Given the description of an element on the screen output the (x, y) to click on. 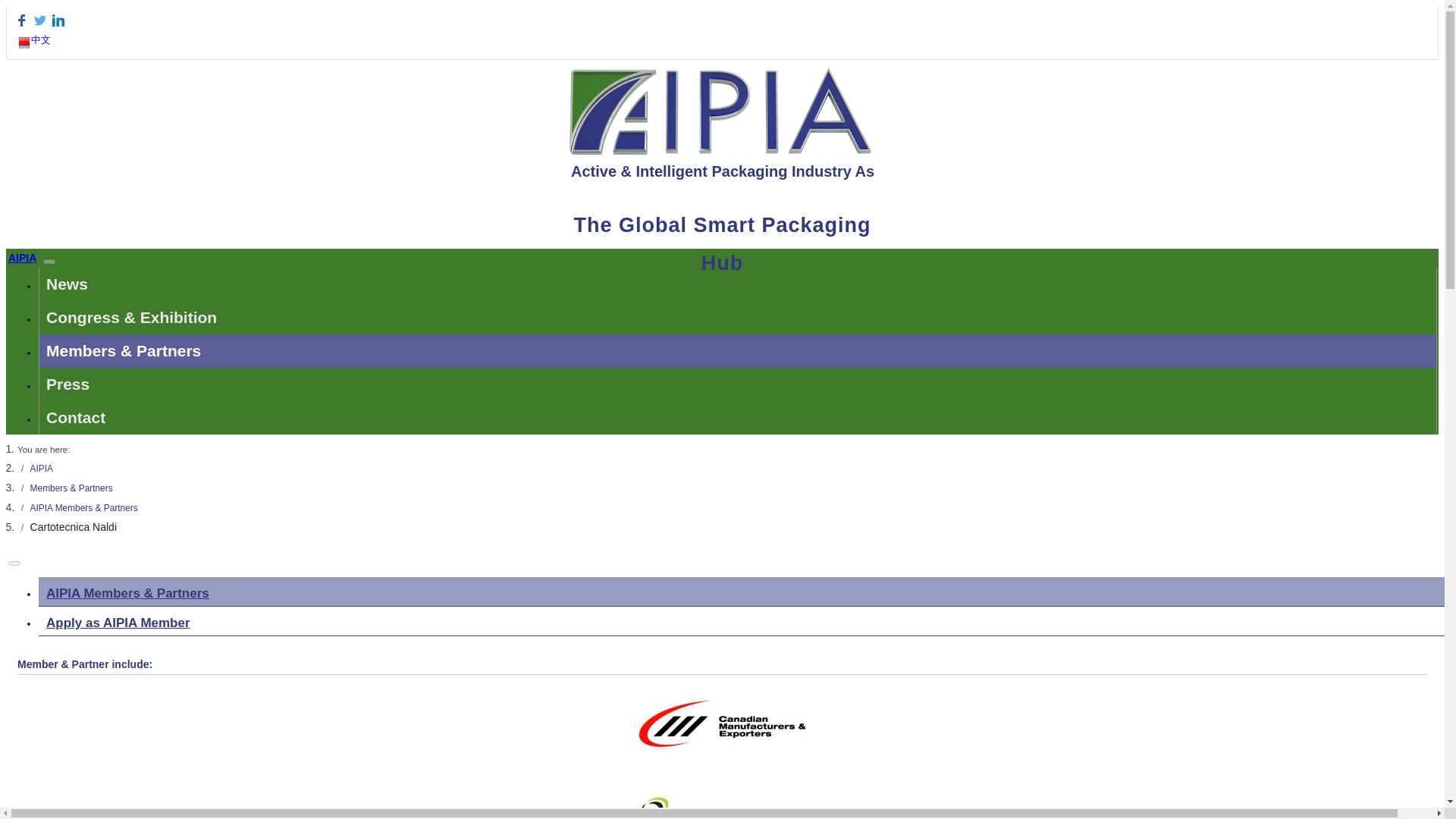
AIPIA (24, 257)
AIPIA (41, 468)
AIPIA (41, 468)
Contact (737, 417)
Cartotecnica Naldi (73, 526)
Cartotecnica Naldi (73, 526)
Press (737, 384)
News (737, 284)
